Given the description of an element on the screen output the (x, y) to click on. 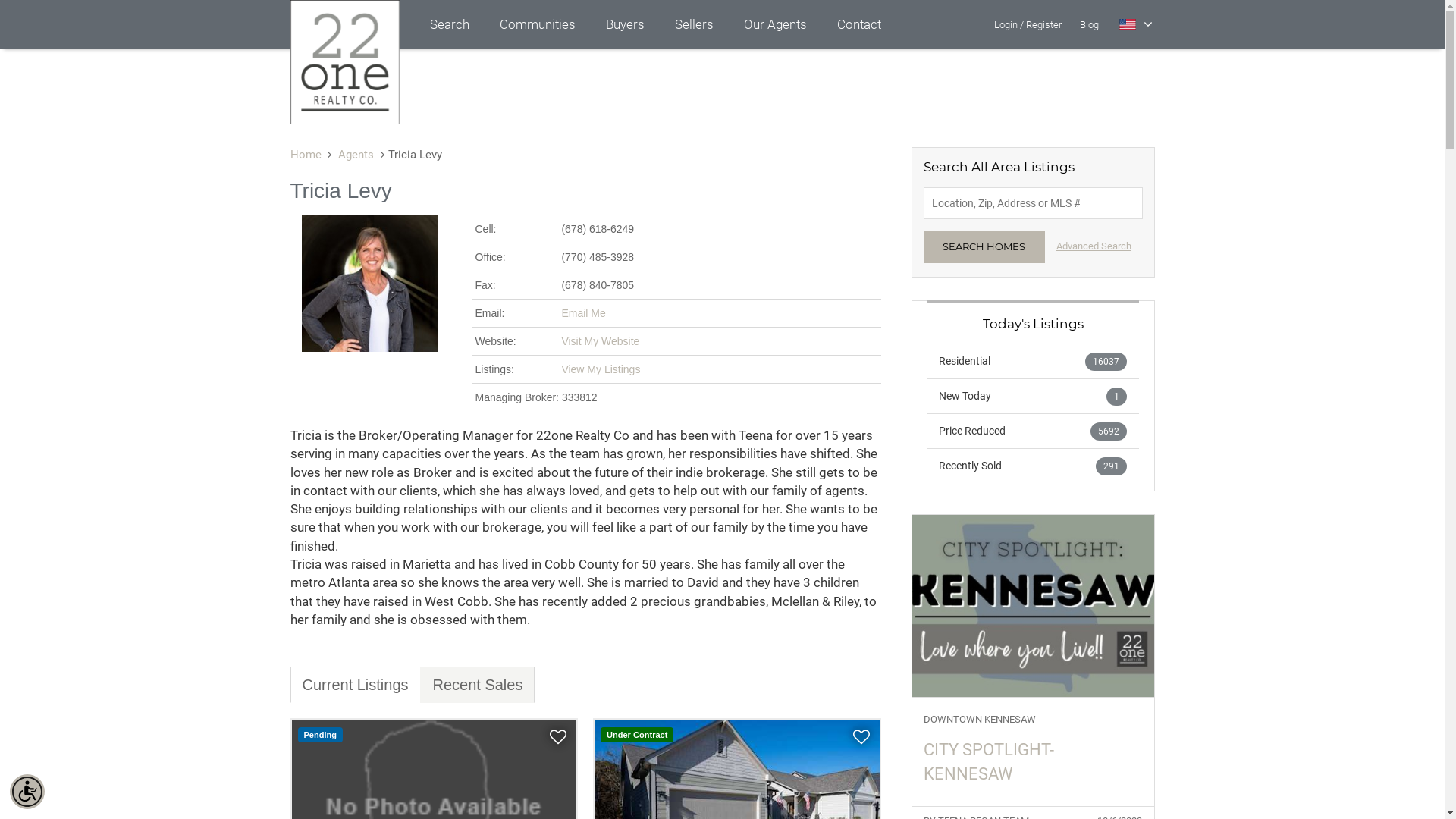
Sellers Element type: text (693, 24)
Price Reduced
5692 Element type: text (1032, 430)
Visit My Website Element type: text (600, 341)
(770) 485-3928 Element type: text (597, 257)
(678) 618-6249 Element type: text (597, 228)
Residential
16037 Element type: text (1032, 361)
DOWNTOWN KENNESAW Element type: text (1032, 719)
Register Element type: text (1042, 24)
Communities Element type: text (536, 24)
Email Me Element type: text (583, 313)
Home Element type: text (304, 154)
Recently Sold
291 Element type: text (1032, 465)
CITY SPOTLIGHT- KENNESAW Element type: text (1032, 761)
Contact Element type: text (859, 24)
View My Listings Element type: text (600, 369)
Login/ Element type: text (1009, 24)
Enter Location, Zip, Address or MLS # Element type: hover (1032, 203)
Search Element type: text (448, 24)
Blog Element type: text (1088, 24)
Recent Sales Element type: text (477, 684)
Current Listings Element type: text (354, 684)
Advanced Search Element type: text (1092, 246)
Agents Element type: text (355, 154)
Select Language Element type: hover (1135, 24)
Buyers Element type: text (623, 24)
SEARCH HOMES Element type: text (983, 246)
New Today
1 Element type: text (1032, 395)
Our Agents Element type: text (774, 24)
